Given the description of an element on the screen output the (x, y) to click on. 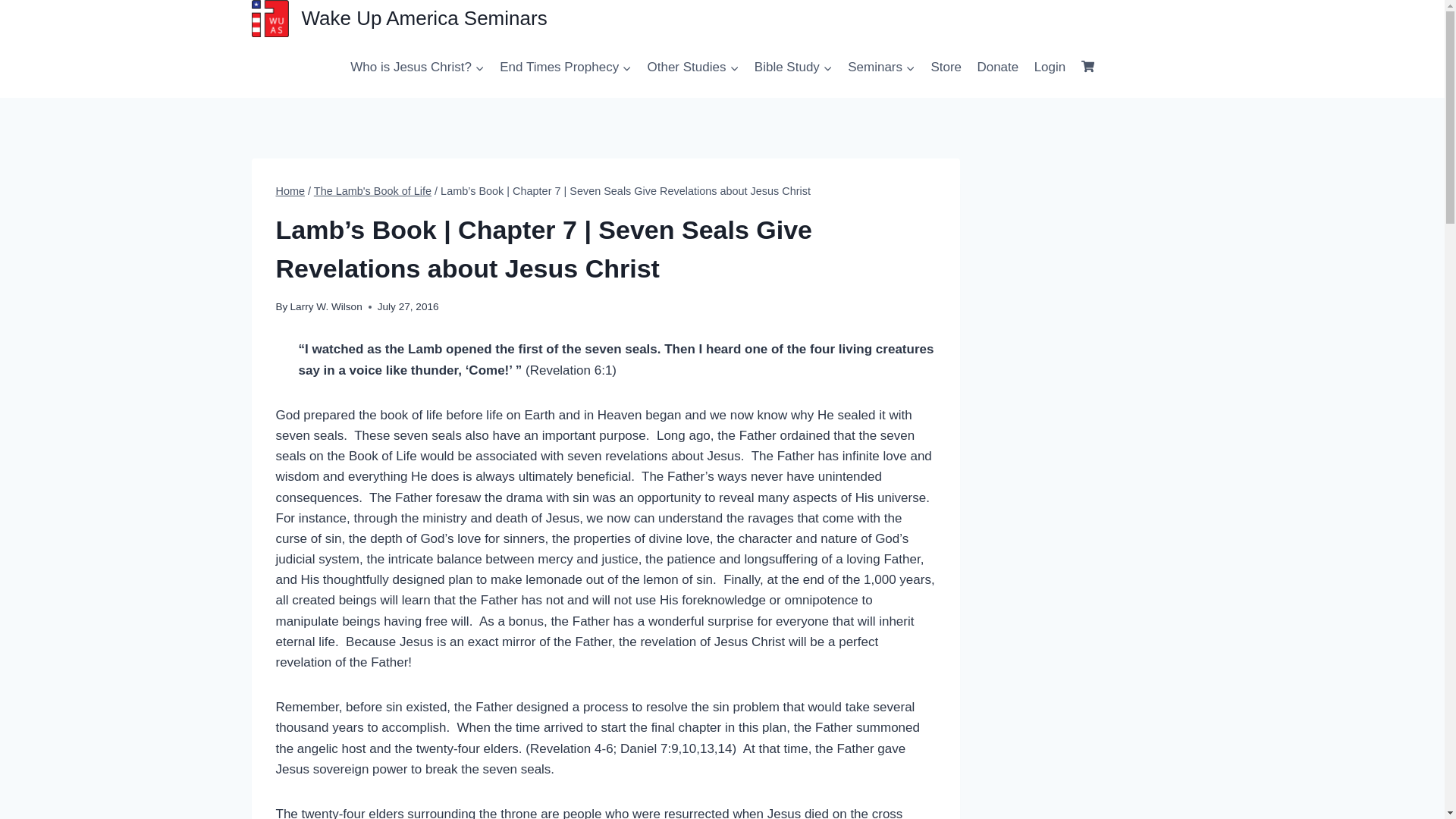
Who is Jesus Christ? (417, 67)
Bible Study (793, 67)
Wake Up America Seminars (399, 18)
End Times Prophecy (565, 67)
Seminars (881, 67)
Other Studies (692, 67)
